Given the description of an element on the screen output the (x, y) to click on. 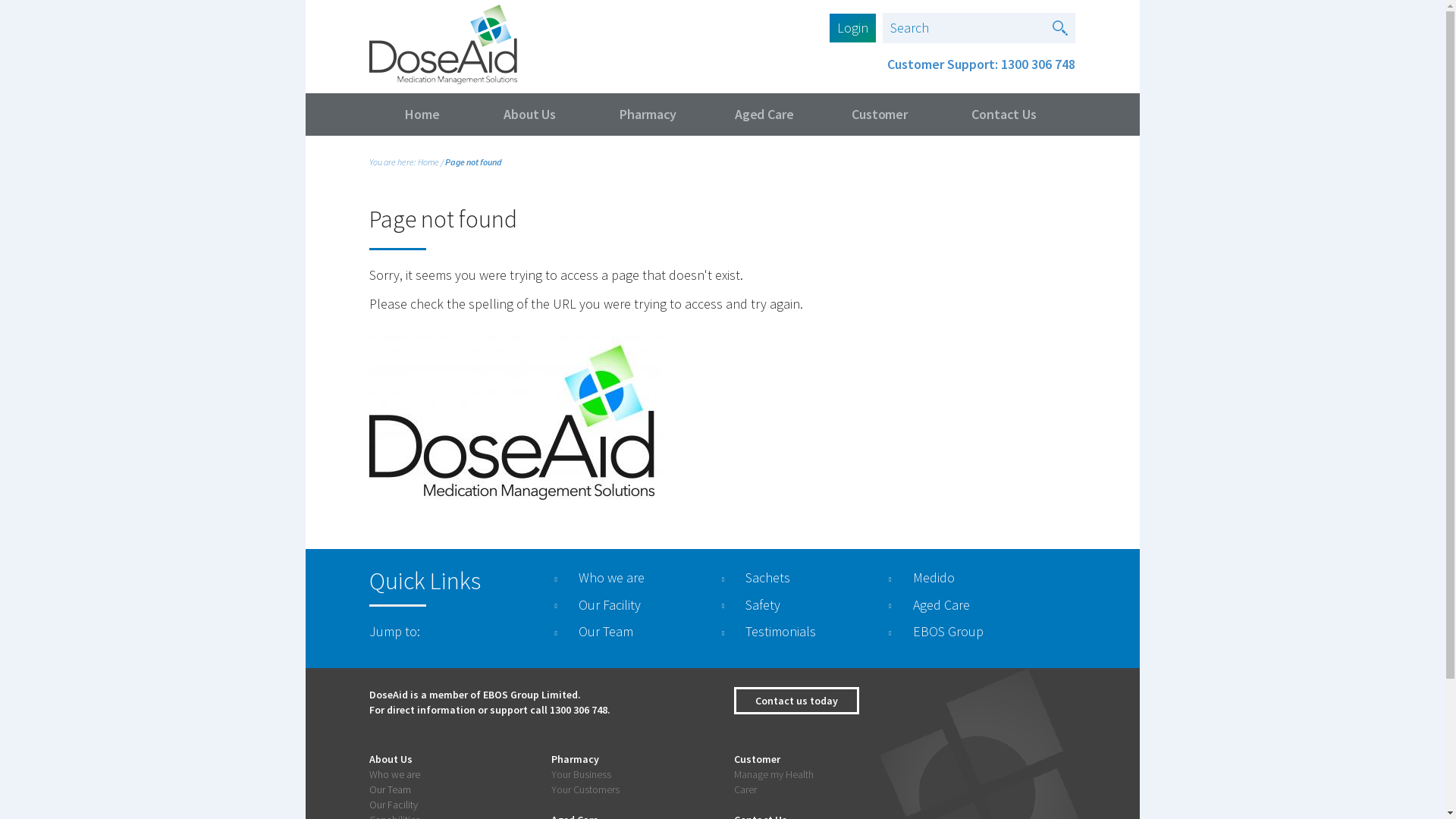
Our Facility Element type: text (392, 804)
Our Team Element type: text (389, 789)
Pharmacy Element type: text (648, 114)
Aged Care Element type: text (763, 114)
Home Element type: text (428, 161)
Contact Us Element type: text (1004, 114)
Carer Element type: text (745, 789)
Who we are Element type: text (393, 774)
Your Business Element type: text (581, 774)
Manage my Health Element type: text (773, 774)
Your Customers Element type: text (585, 789)
Home Element type: text (421, 114)
13 Element type: text (554, 709)
Customer Element type: text (879, 114)
Customer Support: 1300 306 748 Element type: text (981, 63)
About Us Element type: text (389, 758)
00 306 748 Element type: text (582, 709)
  Element type: text (1059, 27)
Contact us today Element type: text (796, 700)
About Us Element type: text (529, 114)
